Given the description of an element on the screen output the (x, y) to click on. 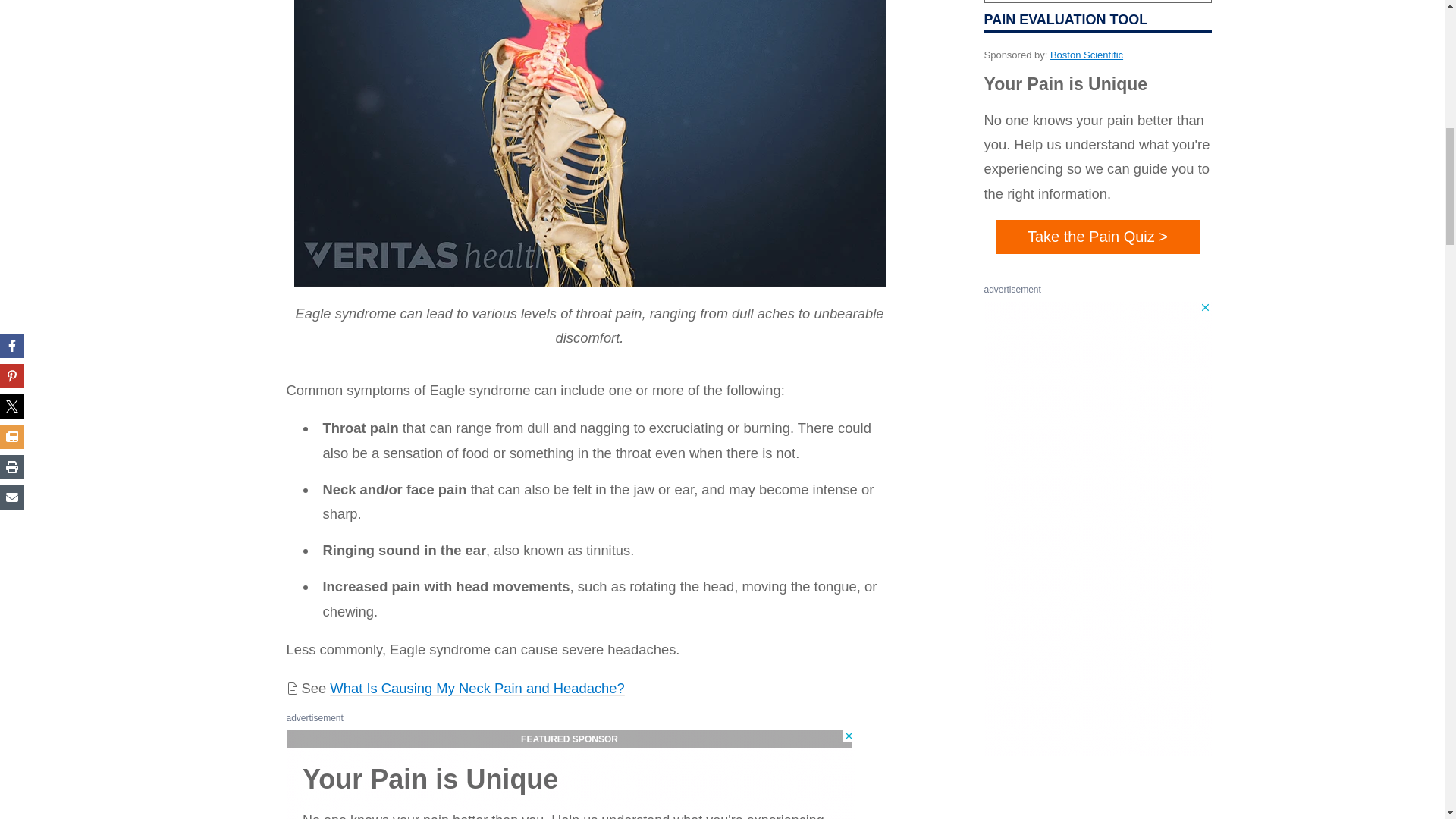
3rd party ad content (571, 774)
What Is Causing My Neck Pain and Headache? (477, 688)
